Given the description of an element on the screen output the (x, y) to click on. 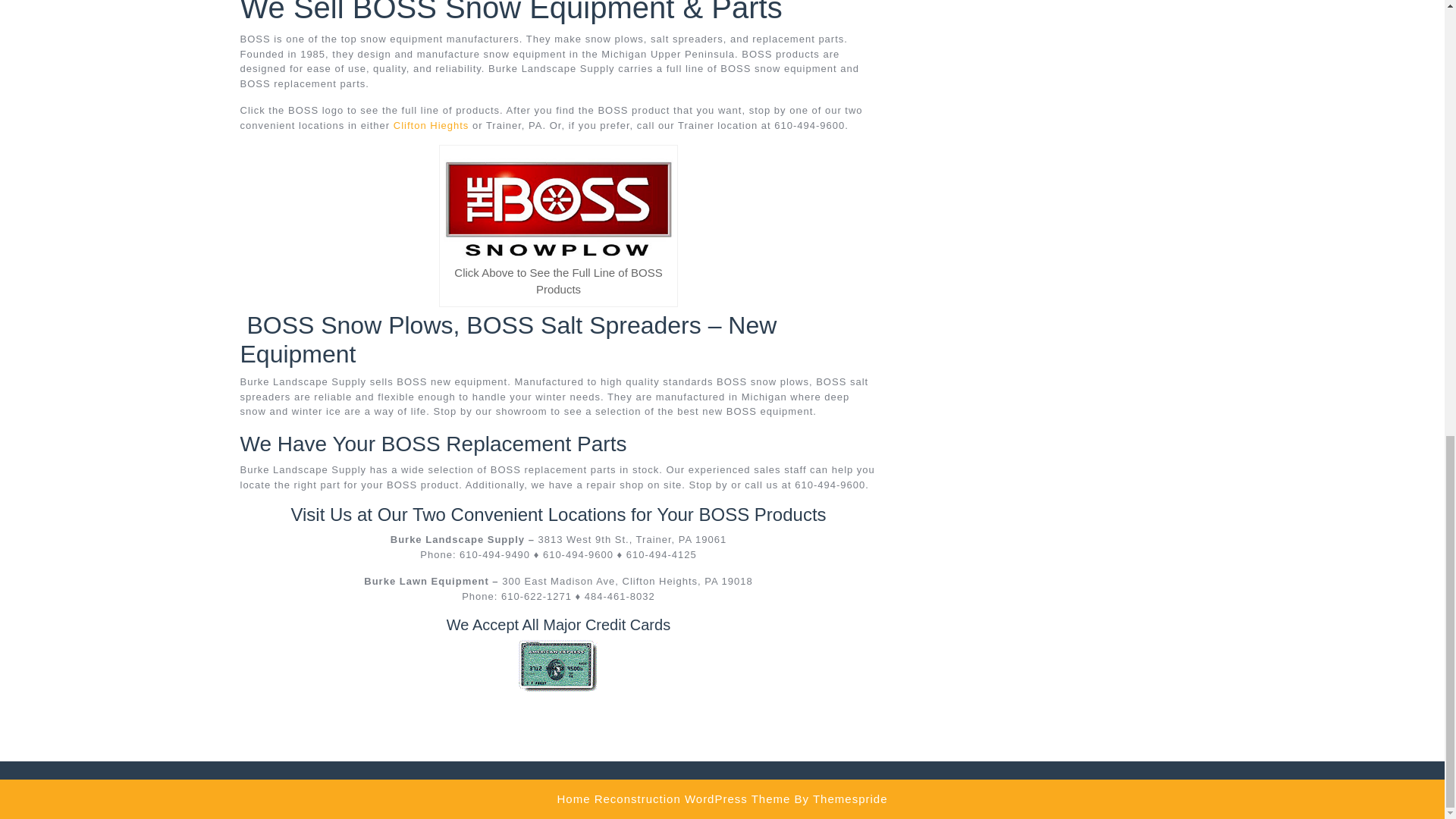
Home Reconstruction WordPress Theme (673, 798)
Buyers Snow Equipment and Parts (558, 665)
BOSS snow equipment  (558, 206)
Clifton Hieghts (430, 125)
